Given the description of an element on the screen output the (x, y) to click on. 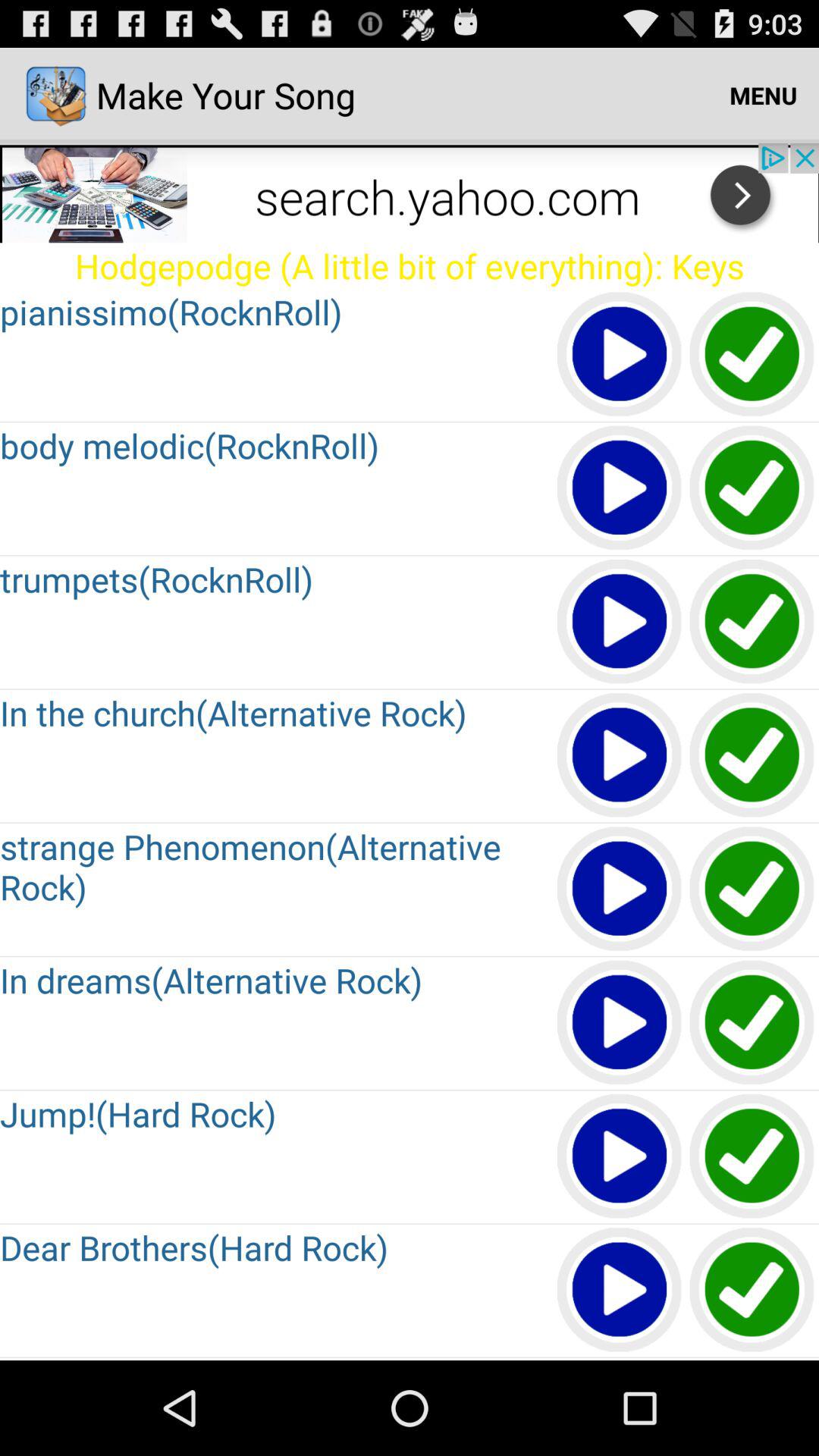
correct button (752, 1290)
